Given the description of an element on the screen output the (x, y) to click on. 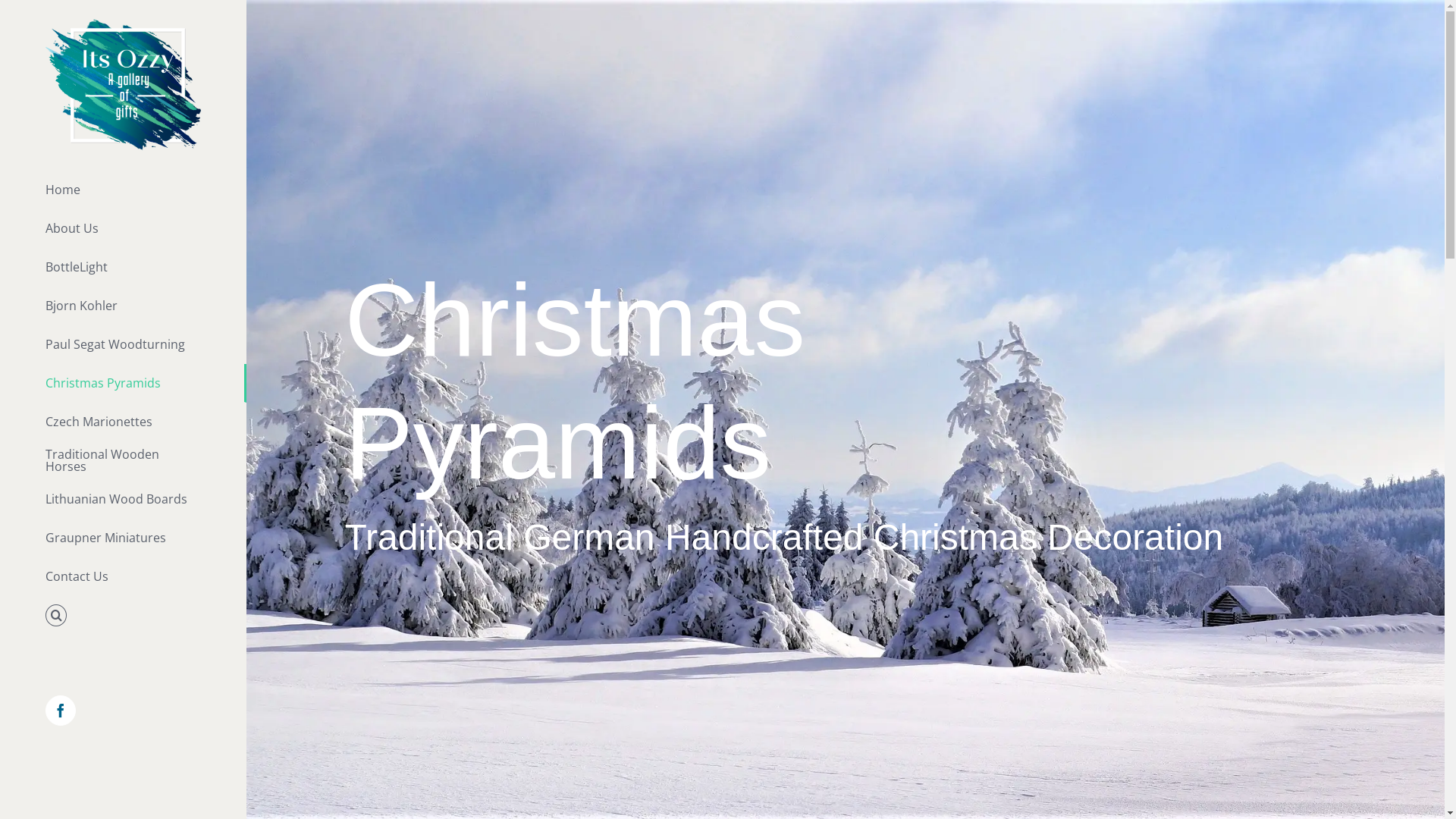
Czech Marionettes Element type: text (123, 421)
Traditional Wooden Horses Element type: text (123, 460)
Bjorn Kohler Element type: text (123, 305)
Christmas Pyramids Element type: text (123, 383)
Search Element type: hover (123, 615)
Facebook Element type: text (60, 710)
Paul Segat Woodturning Element type: text (123, 344)
Lithuanian Wood Boards Element type: text (123, 499)
Graupner Miniatures Element type: text (123, 537)
BottleLight Element type: text (123, 266)
Home Element type: text (123, 189)
Contact Us Element type: text (123, 576)
About Us Element type: text (123, 228)
